Given the description of an element on the screen output the (x, y) to click on. 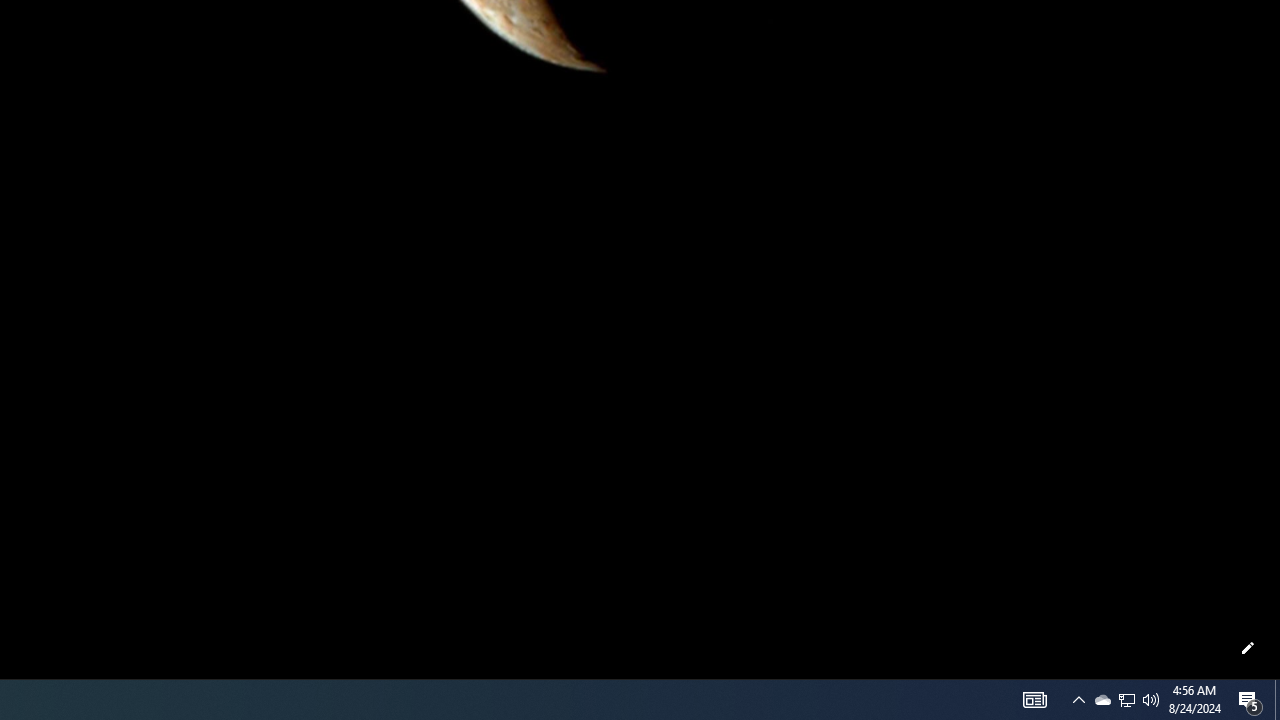
Customize this page (1247, 647)
